Given the description of an element on the screen output the (x, y) to click on. 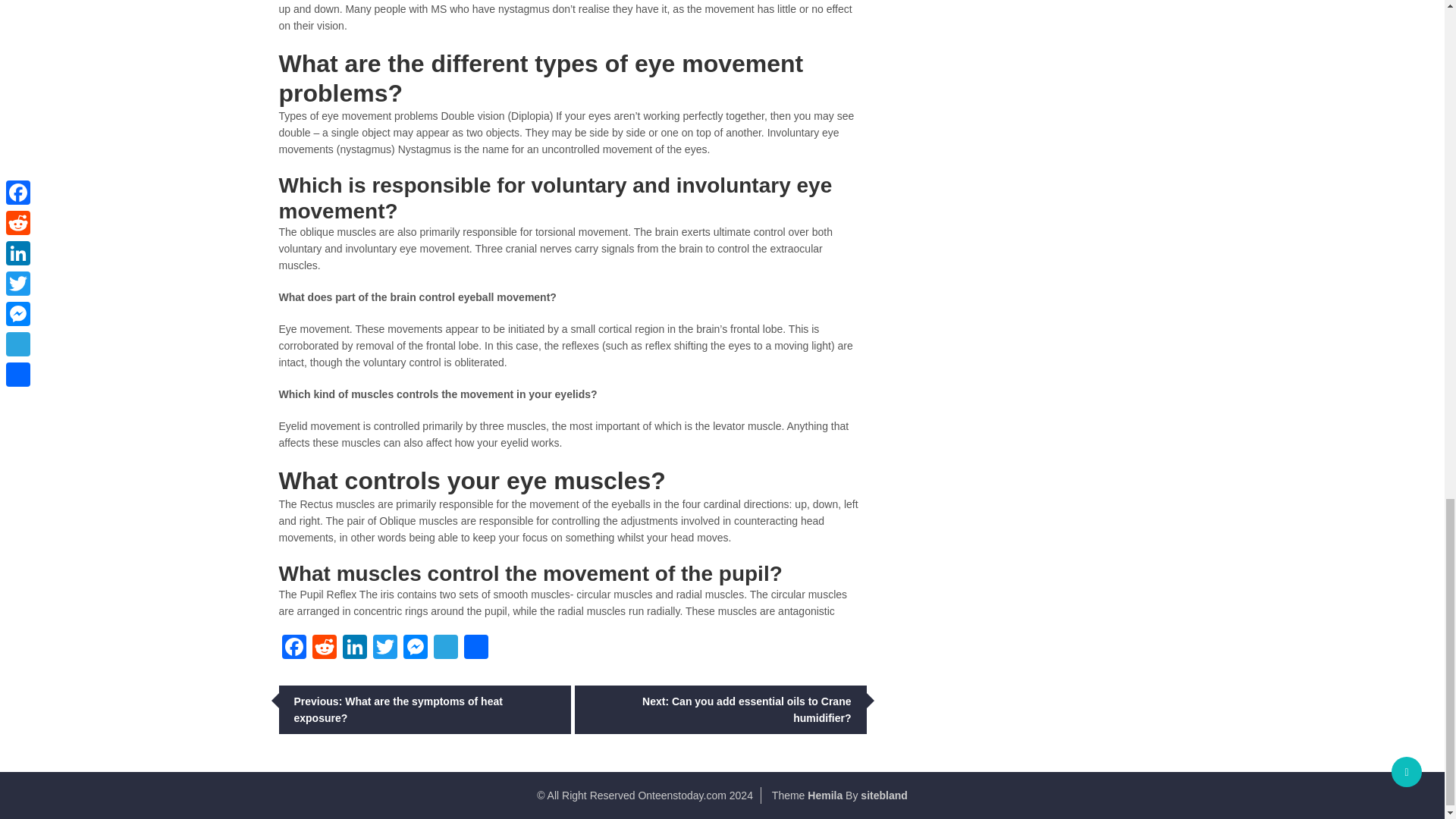
Previous: What are the symptoms of heat exposure? (424, 709)
LinkedIn (354, 648)
Facebook (293, 648)
Twitter (384, 648)
Messenger (415, 648)
Reddit (323, 648)
Reddit (323, 648)
Messenger (415, 648)
Telegram (445, 648)
Facebook (293, 648)
